Given the description of an element on the screen output the (x, y) to click on. 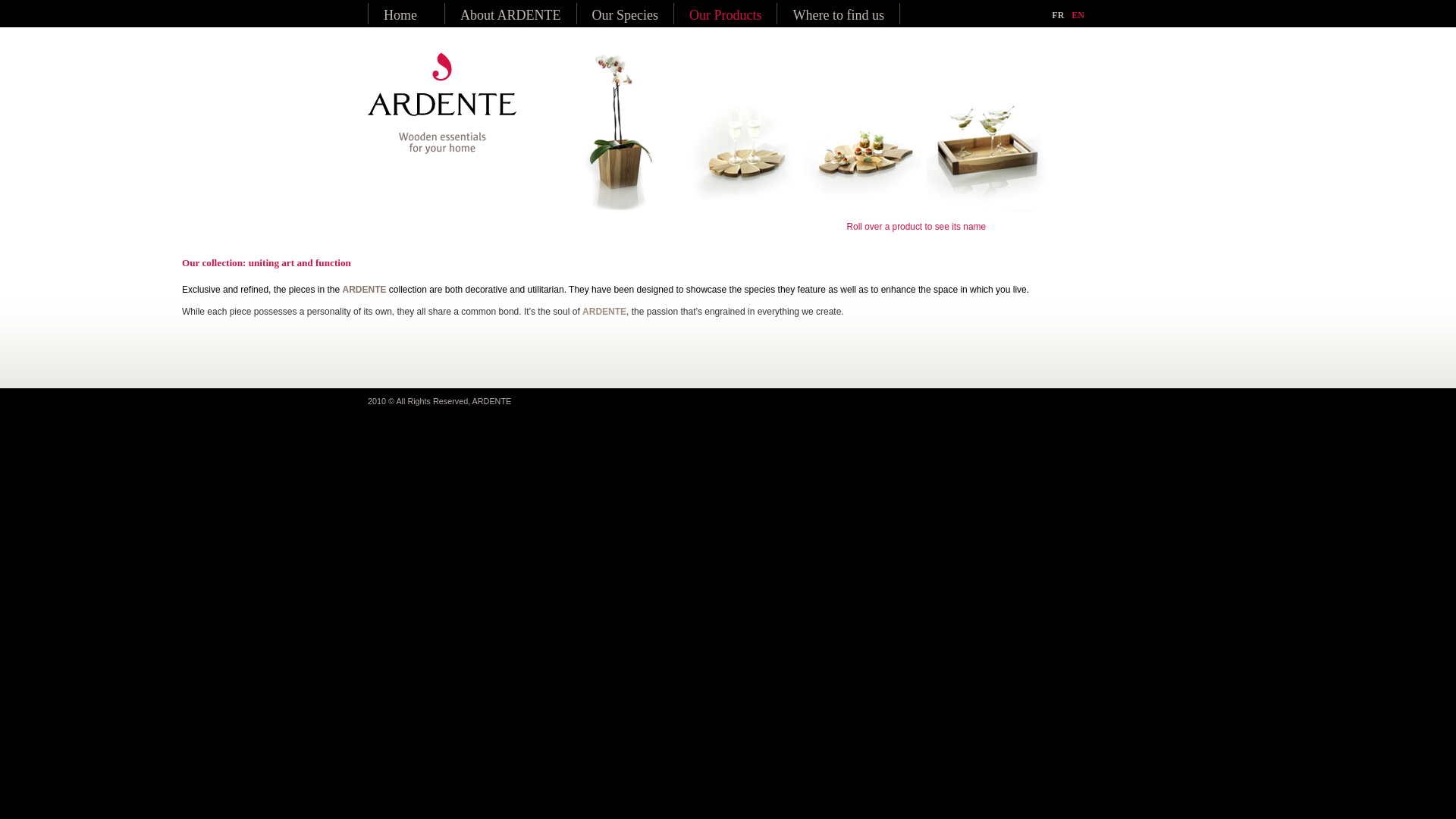
The Lovely Element type: hover (616, 131)
Our Species Element type: text (624, 14)
1 Element type: text (1032, 224)
The Panache Element type: hover (859, 131)
Our Products Element type: text (725, 14)
Home Element type: text (400, 14)
The Underwood Pedestal Element type: hover (738, 131)
1 Element type: text (1021, 224)
Where to find us Element type: text (837, 14)
About ARDENTE Element type: text (510, 14)
EN Element type: text (1077, 14)
1 Element type: text (1010, 224)
1 Element type: text (1044, 224)
The Minuet Element type: hover (981, 131)
FR Element type: text (1057, 14)
